Given the description of an element on the screen output the (x, y) to click on. 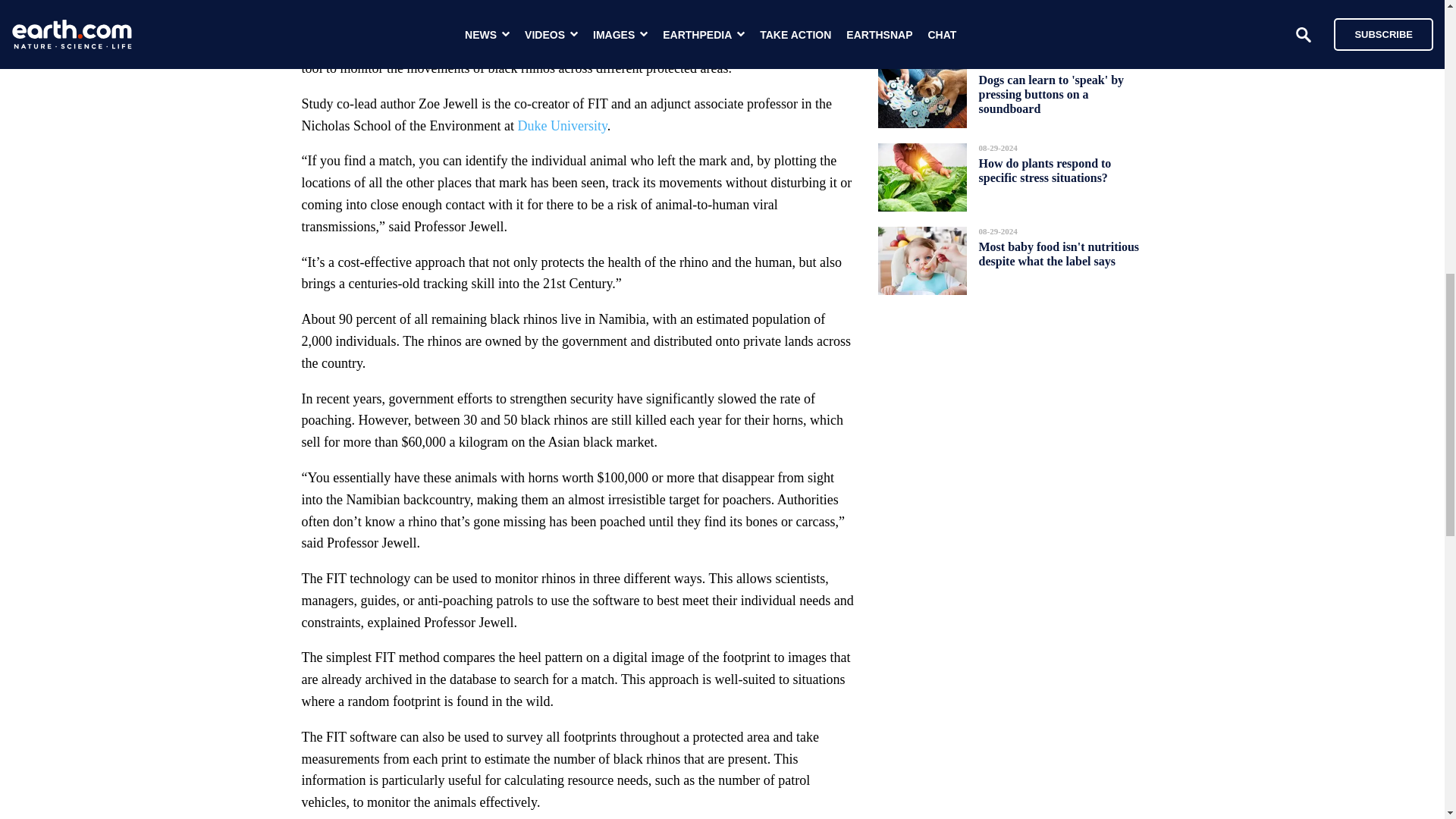
Most baby food isn't nutritious despite what the label says (1058, 253)
How do plants respond to specific stress situations? (1044, 170)
Duke University (561, 125)
